Given the description of an element on the screen output the (x, y) to click on. 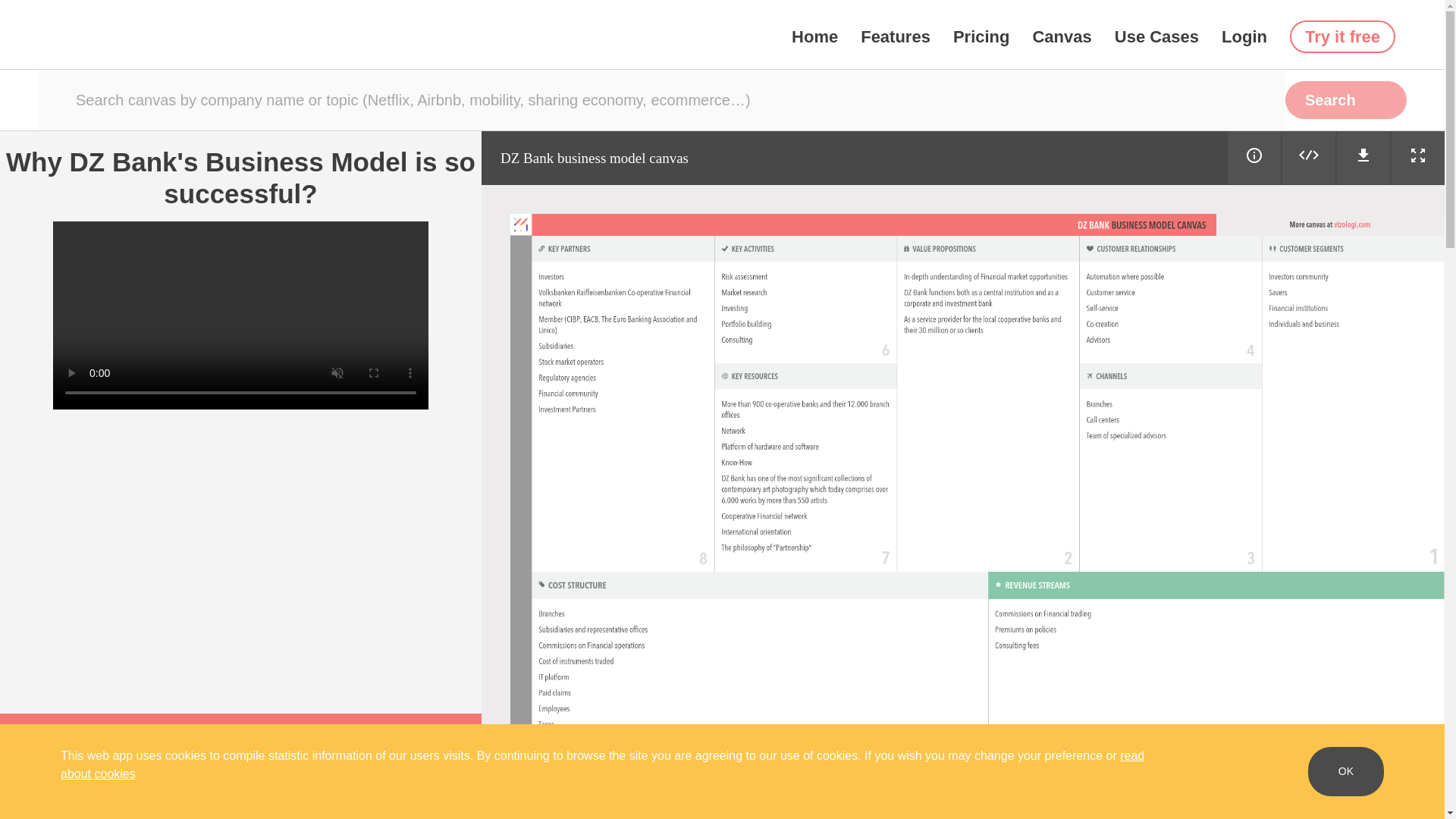
Home (815, 36)
OK (1345, 771)
Search (1345, 99)
Login (1243, 36)
Features (895, 36)
Try it free (1342, 36)
Search for: (661, 99)
Canvas (1061, 36)
Use Cases (1156, 36)
Pricing (981, 36)
